Given the description of an element on the screen output the (x, y) to click on. 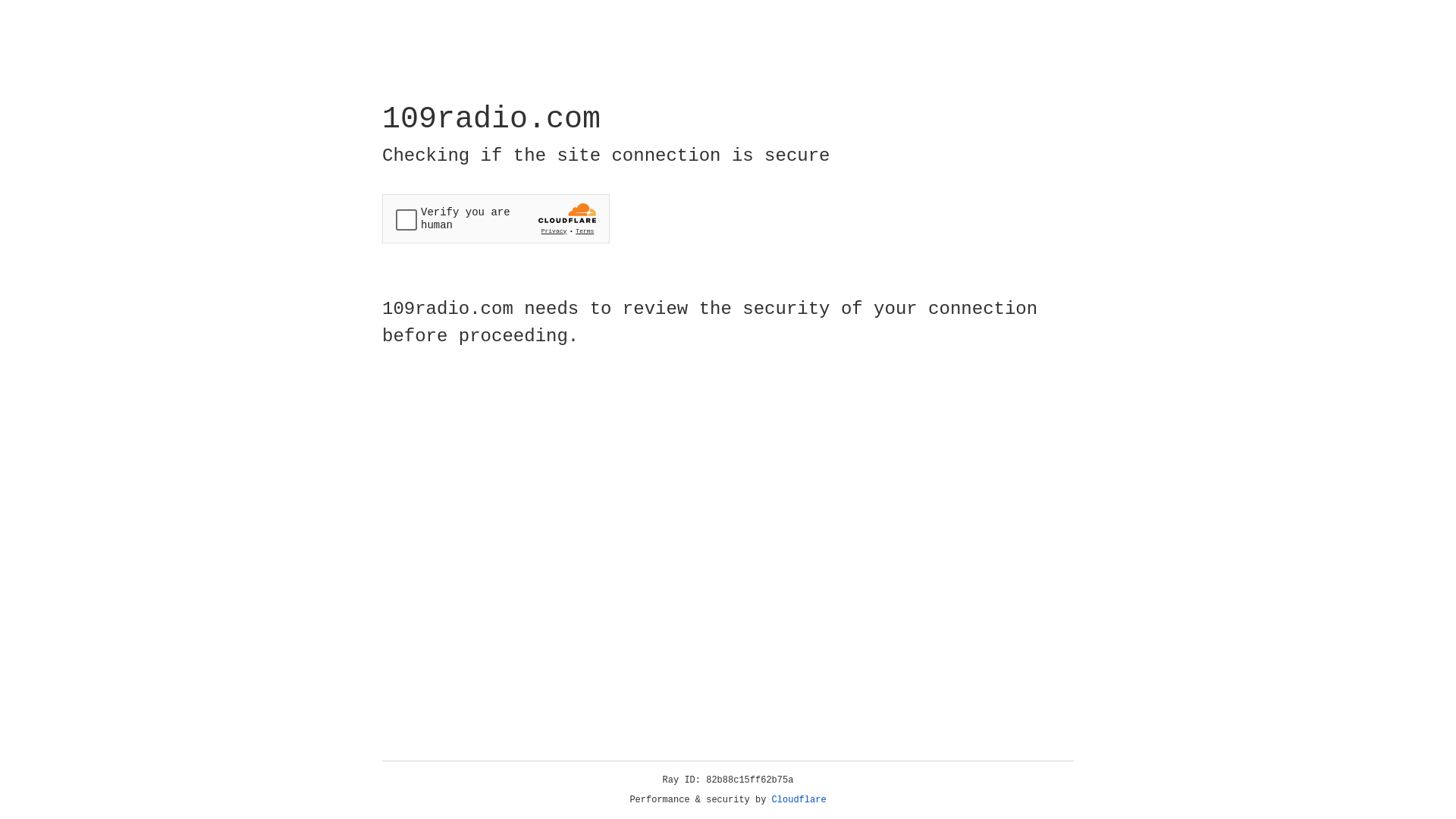
Cloudflare Element type: text (798, 799)
Widget containing a Cloudflare security challenge Element type: hover (495, 218)
